Given the description of an element on the screen output the (x, y) to click on. 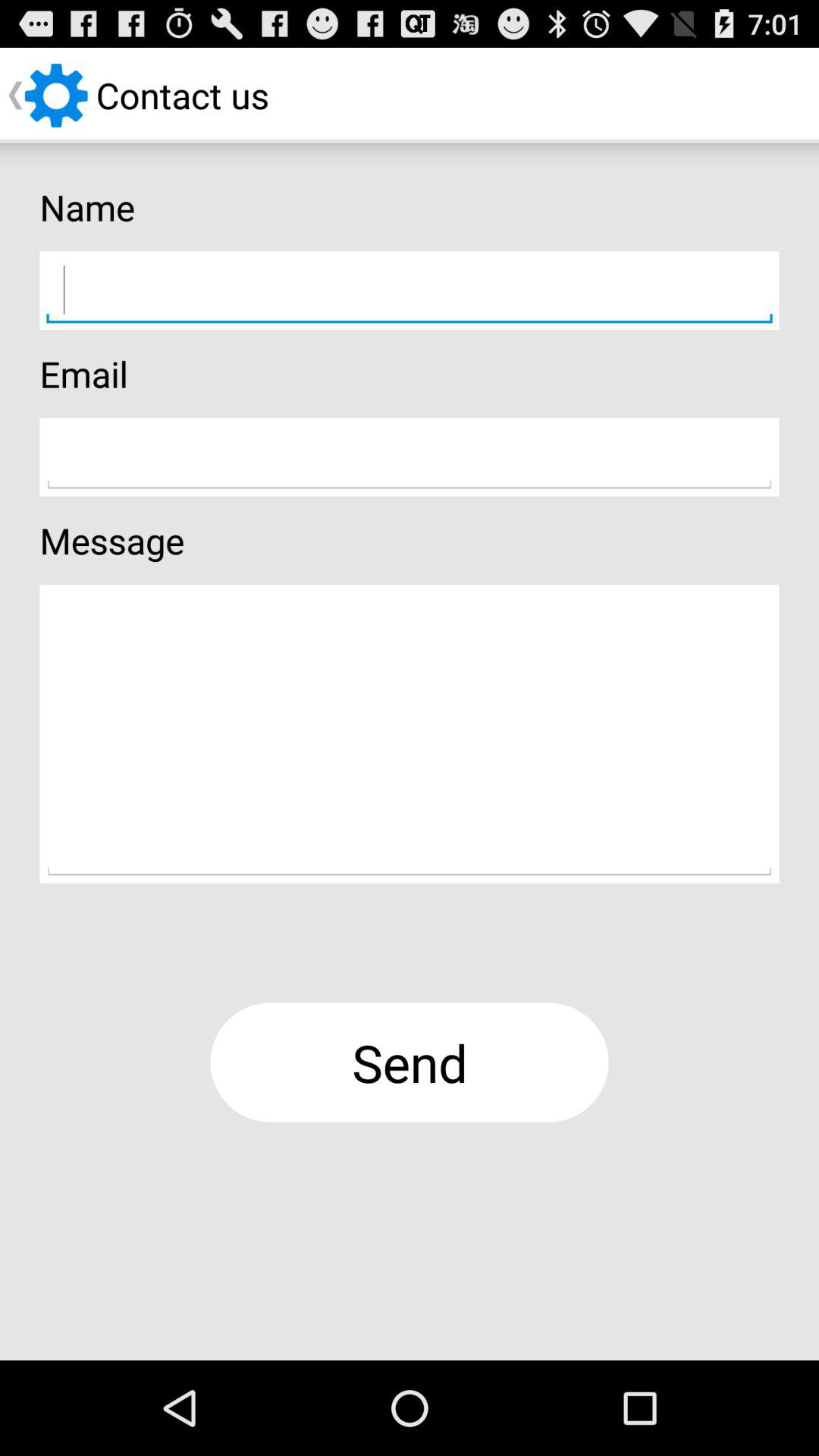
choose send button (409, 1062)
